Given the description of an element on the screen output the (x, y) to click on. 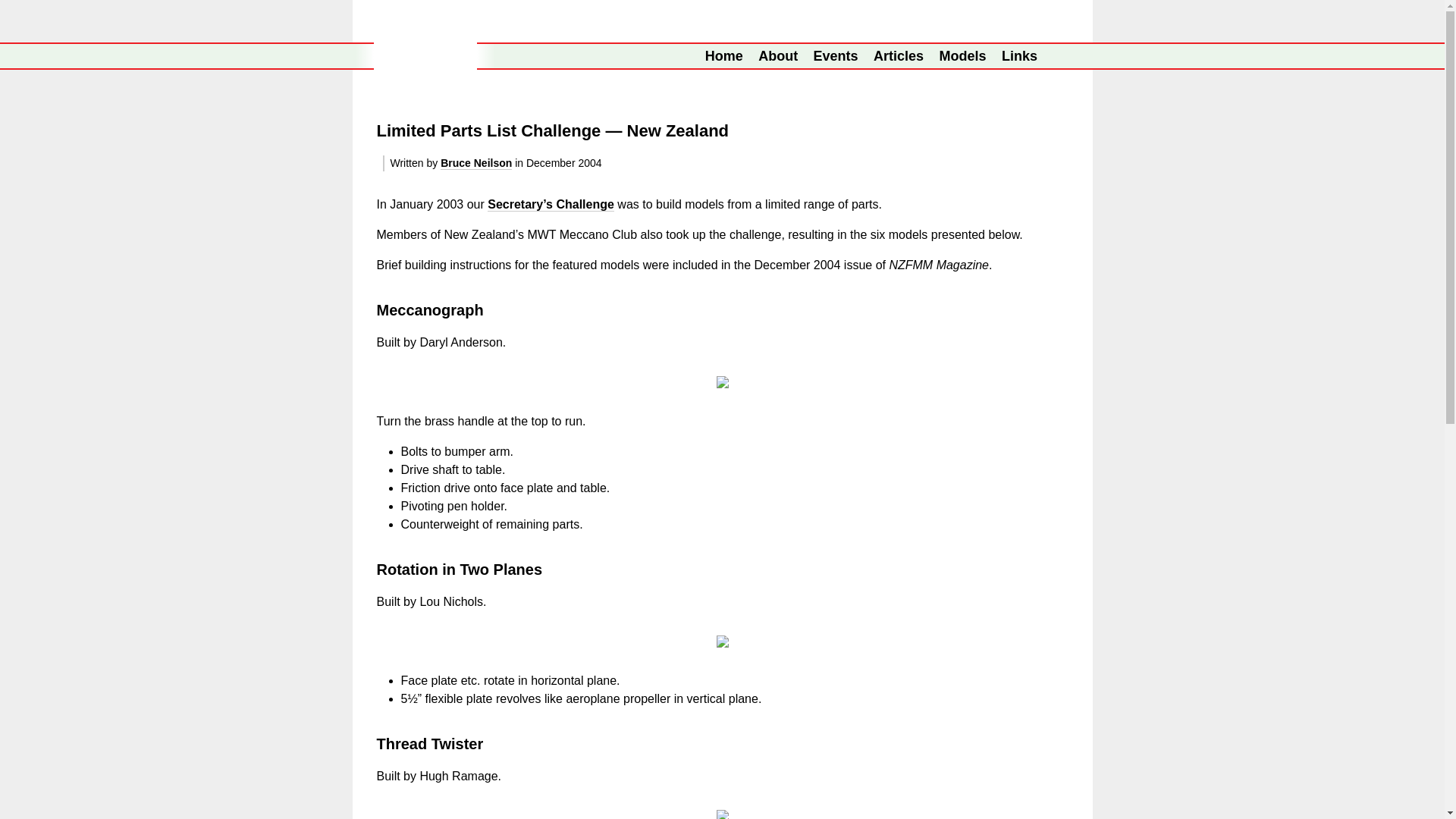
Links (1018, 55)
Log into Member Services (1059, 55)
About (777, 55)
Home (723, 55)
Models (963, 55)
Events (836, 55)
Bruce Neilson (476, 163)
Articles (898, 55)
Return to our Homepage (424, 55)
